Given the description of an element on the screen output the (x, y) to click on. 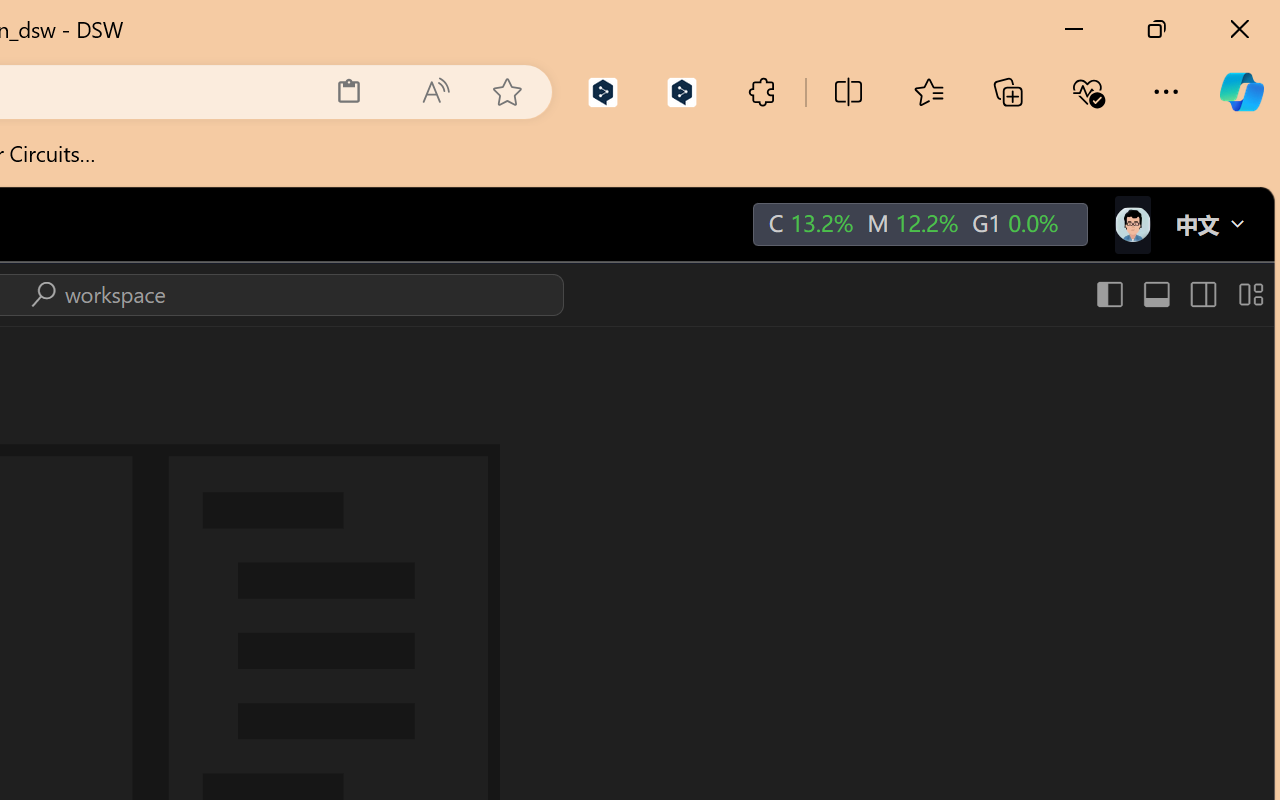
Class: next-menu next-hoz widgets--iconMenu--BFkiHRM (1131, 225)
Customize Layout... (1248, 294)
icon (1131, 220)
Copilot (Ctrl+Shift+.) (1241, 91)
Class: actions-container (94, 294)
Title actions (1178, 294)
Toggle Secondary Side Bar (Ctrl+Alt+B) (1201, 294)
